Given the description of an element on the screen output the (x, y) to click on. 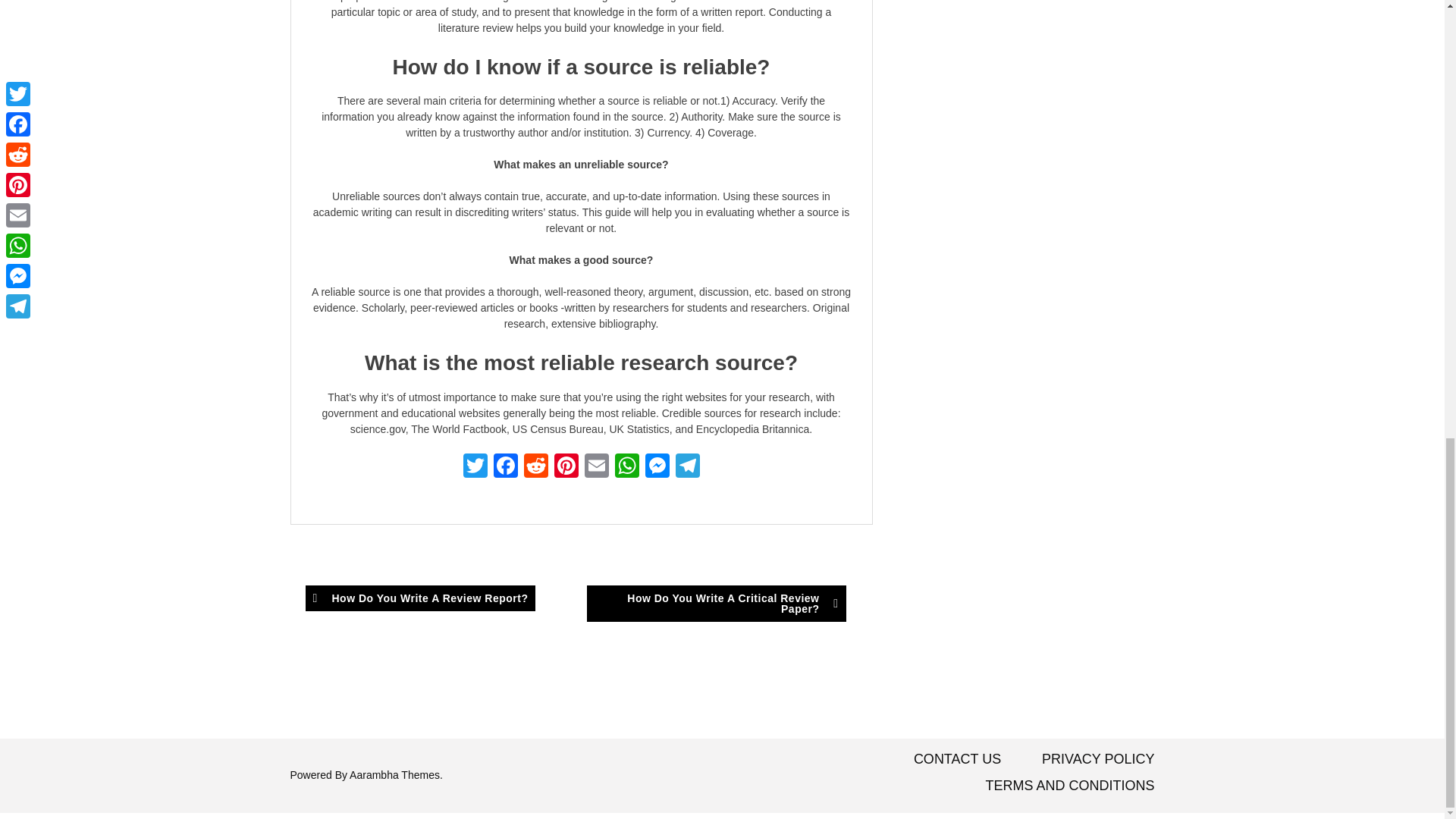
WhatsApp (626, 467)
CONTACT US (957, 758)
Facebook (504, 467)
How Do You Write A Critical Review Paper? (715, 603)
Aarambha Themes (394, 775)
Email (595, 467)
Facebook (504, 467)
Telegram (686, 467)
Twitter (474, 467)
Pinterest (565, 467)
Messenger (656, 467)
Messenger (656, 467)
Reddit (534, 467)
Email (595, 467)
Twitter (474, 467)
